Given the description of an element on the screen output the (x, y) to click on. 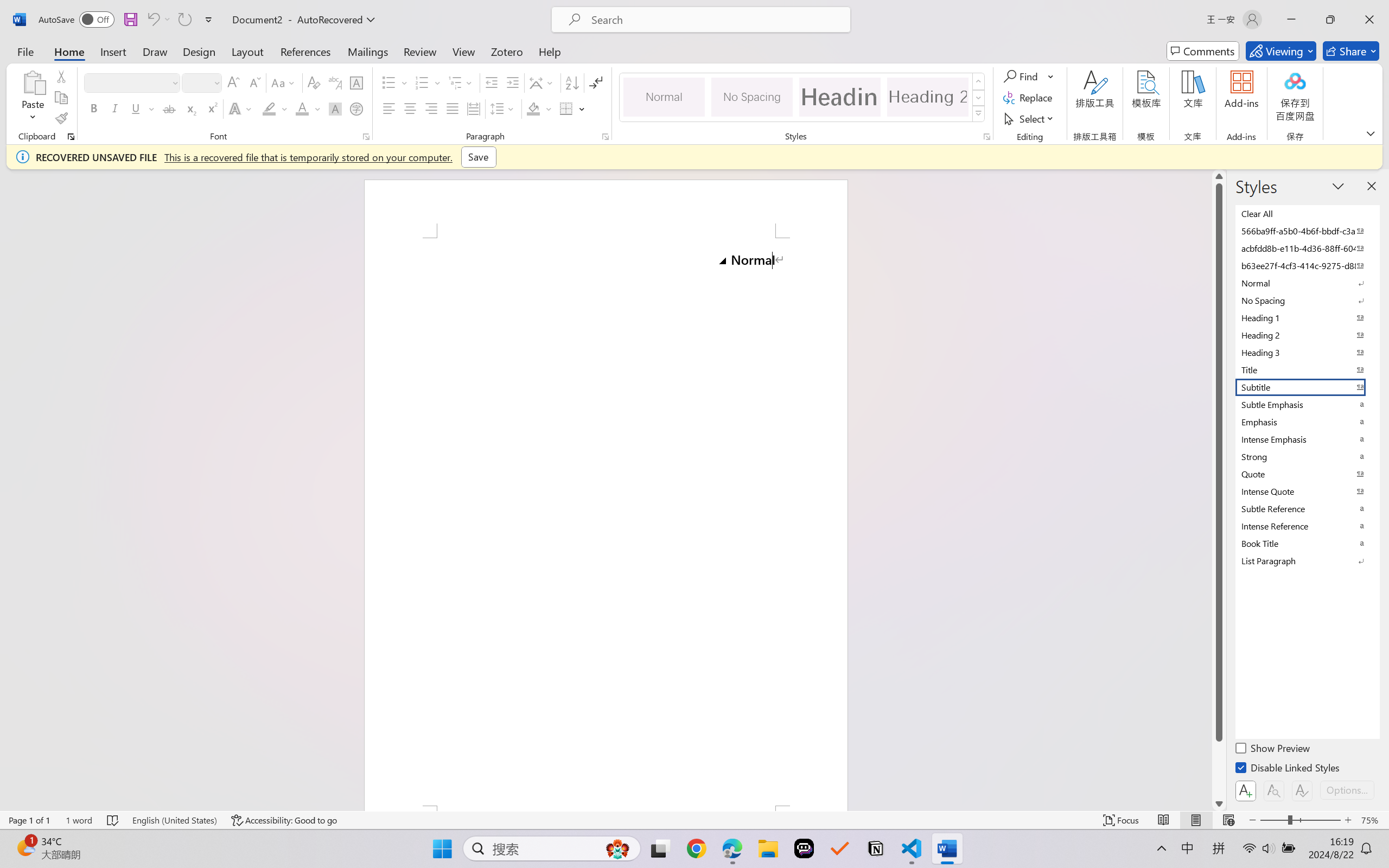
Subtitle (1306, 386)
Phonetic Guide... (334, 82)
Copy (60, 97)
Format Painter (60, 118)
Shading RGB(0, 0, 0) (533, 108)
Can't Undo (158, 19)
Intense Quote (1306, 490)
Subscript (190, 108)
Italic (115, 108)
Increase Indent (512, 82)
